Given the description of an element on the screen output the (x, y) to click on. 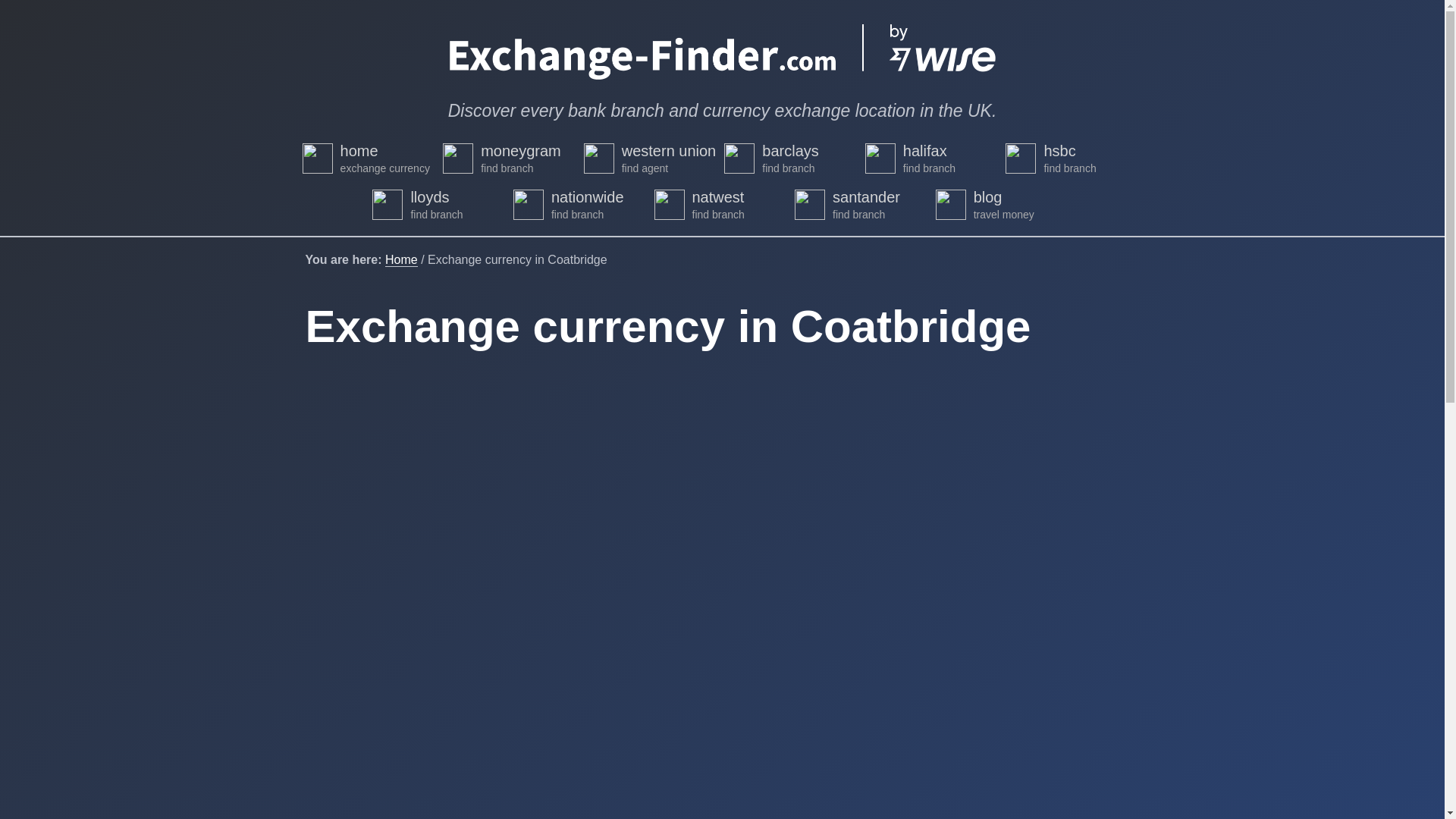
Home (401, 259)
